Given the description of an element on the screen output the (x, y) to click on. 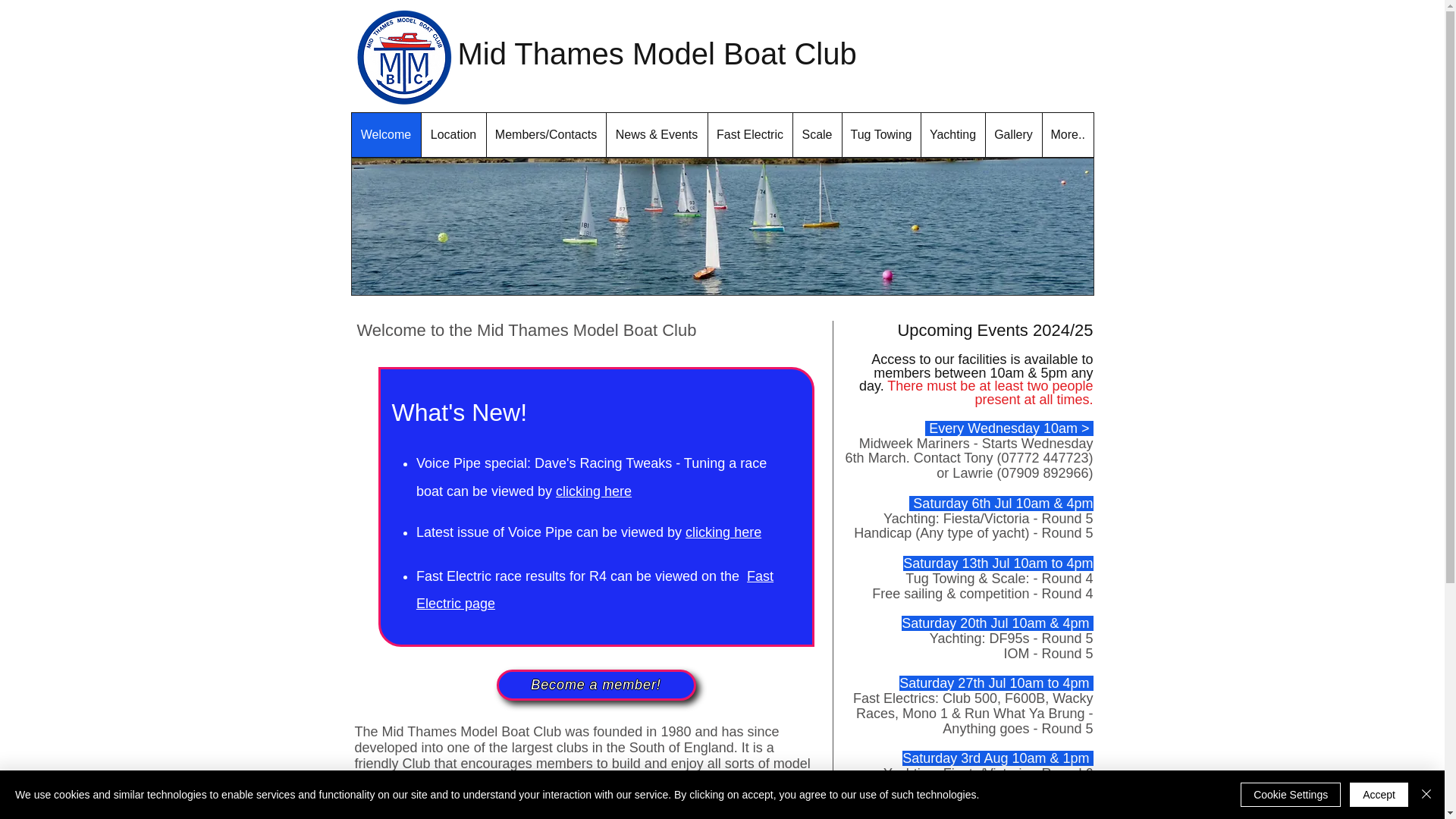
Gallery (1012, 135)
Scale (816, 135)
Cookie Settings (1290, 794)
Become a member! (595, 685)
clicking here (723, 531)
Yachting (952, 135)
Fast Electric page (594, 589)
Tug Towing (880, 135)
Fast Electric (749, 135)
Location (452, 135)
Welcome (386, 135)
clicking here (593, 489)
Accept (1378, 794)
